Given the description of an element on the screen output the (x, y) to click on. 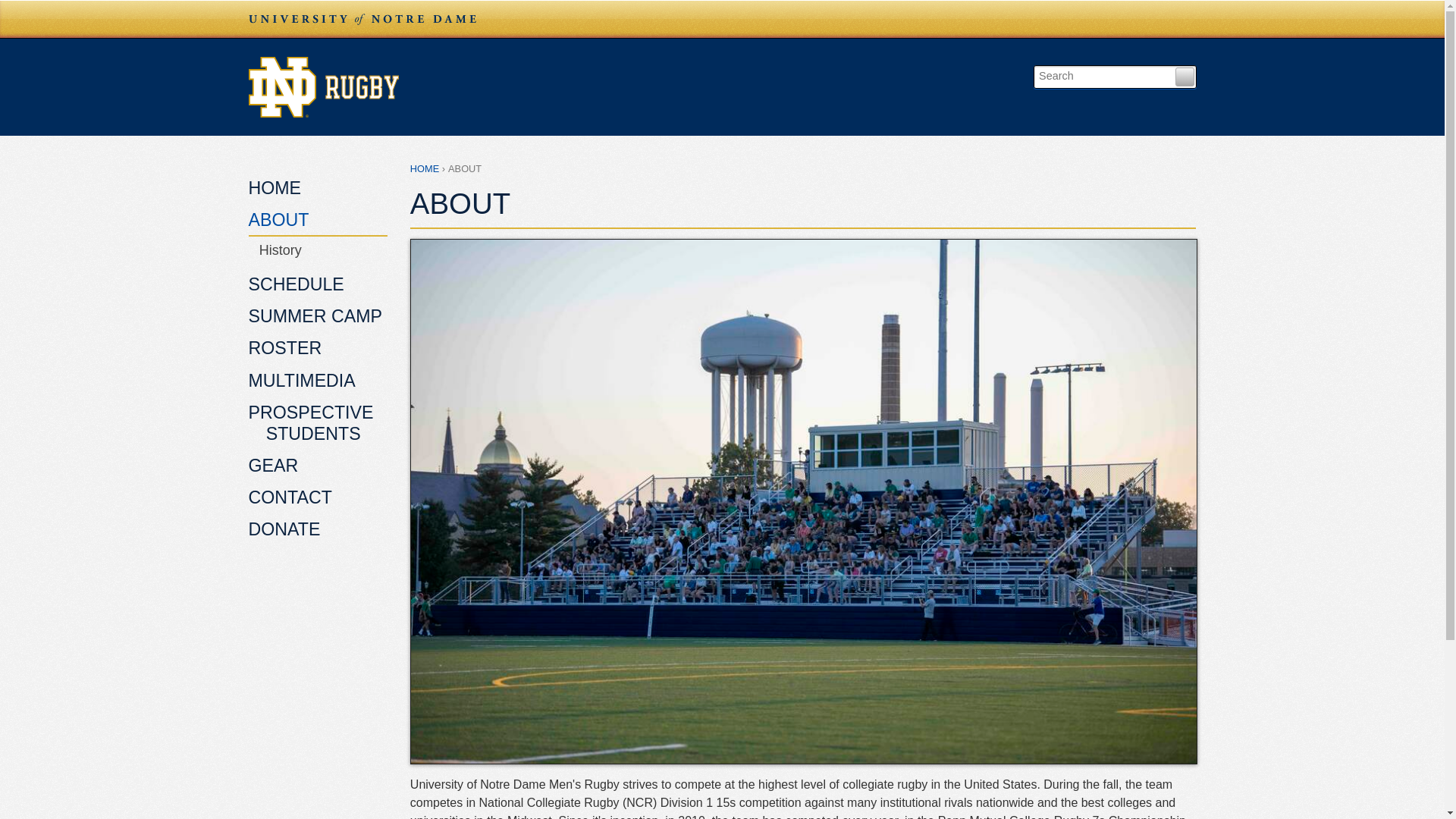
DONATE (317, 531)
ABOUT (317, 220)
SCHEDULE (317, 285)
HOME (424, 168)
GEAR (317, 466)
MULTIMEDIA (317, 381)
ROSTER (317, 349)
CONTACT (317, 499)
SUMMER CAMP (317, 317)
PROSPECTIVE STUDENTS (317, 423)
Rugby (627, 86)
University Notre Dame (362, 18)
History (317, 250)
HOME (317, 188)
